Given the description of an element on the screen output the (x, y) to click on. 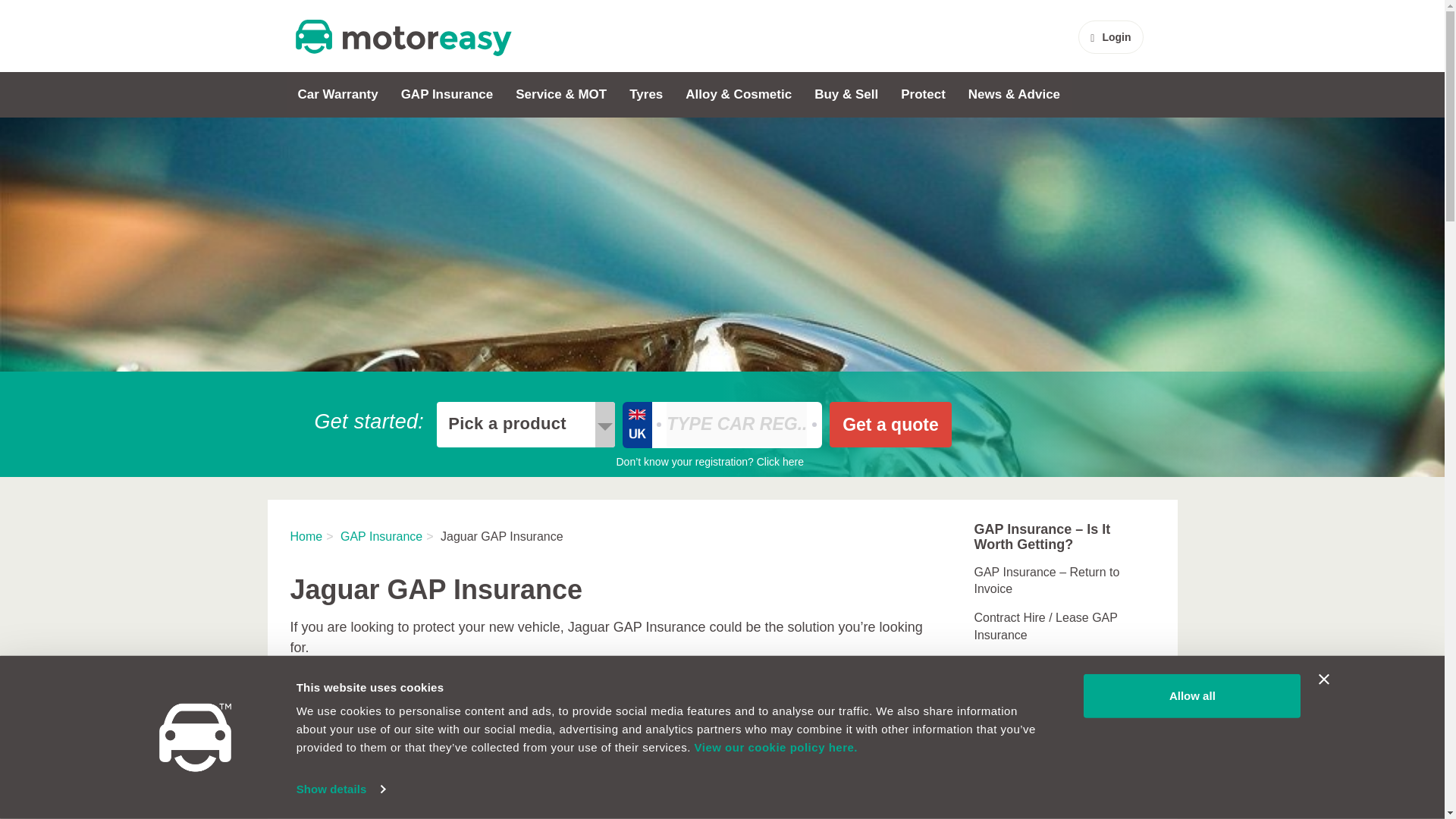
View our cookie policy here. (775, 747)
Show details (340, 789)
